Given the description of an element on the screen output the (x, y) to click on. 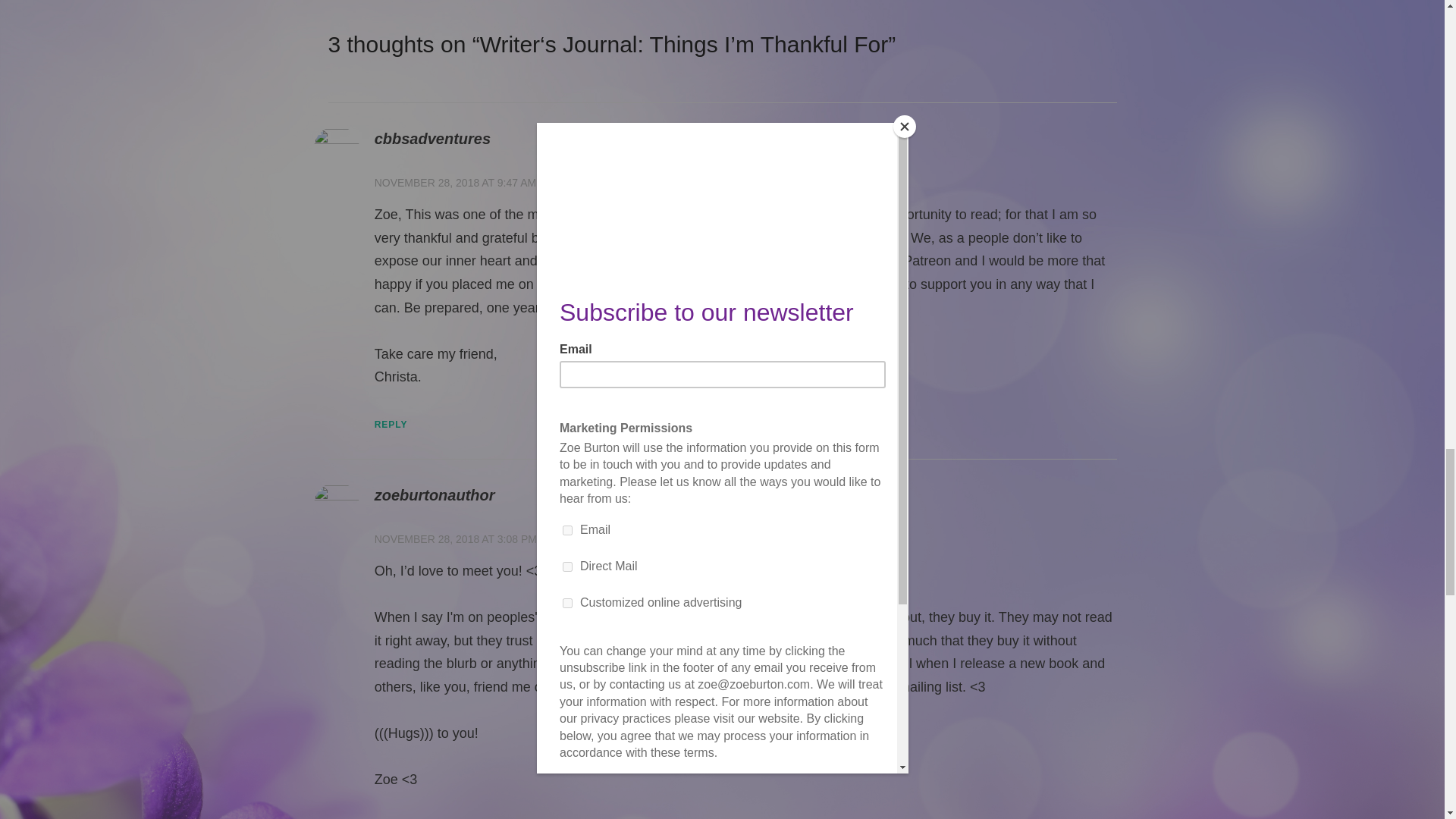
NOVEMBER 28, 2018 AT 3:08 PM (455, 539)
cbbsadventures (432, 138)
REPLY (390, 424)
NOVEMBER 28, 2018 AT 9:47 AM (454, 182)
